Given the description of an element on the screen output the (x, y) to click on. 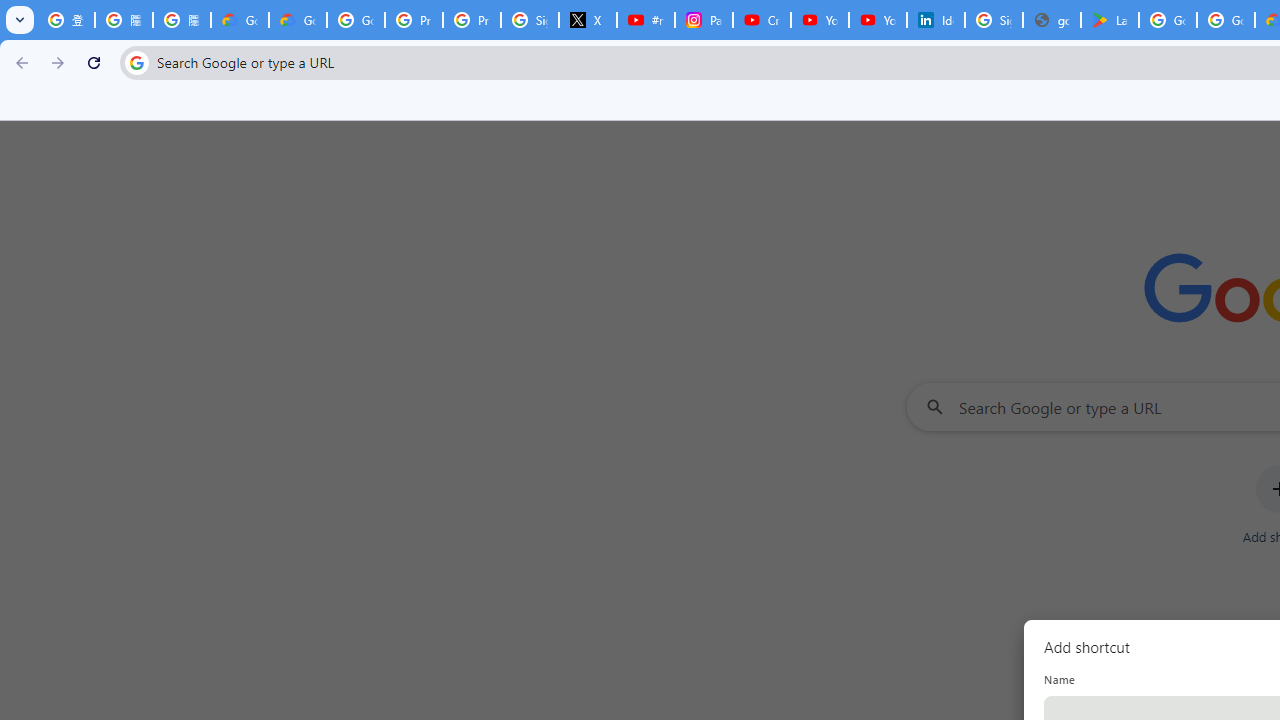
Sign in - Google Accounts (529, 20)
Google Cloud Privacy Notice (297, 20)
X (587, 20)
Privacy Help Center - Policies Help (471, 20)
#nbabasketballhighlights - YouTube (645, 20)
Last Shelter: Survival - Apps on Google Play (1110, 20)
